Given the description of an element on the screen output the (x, y) to click on. 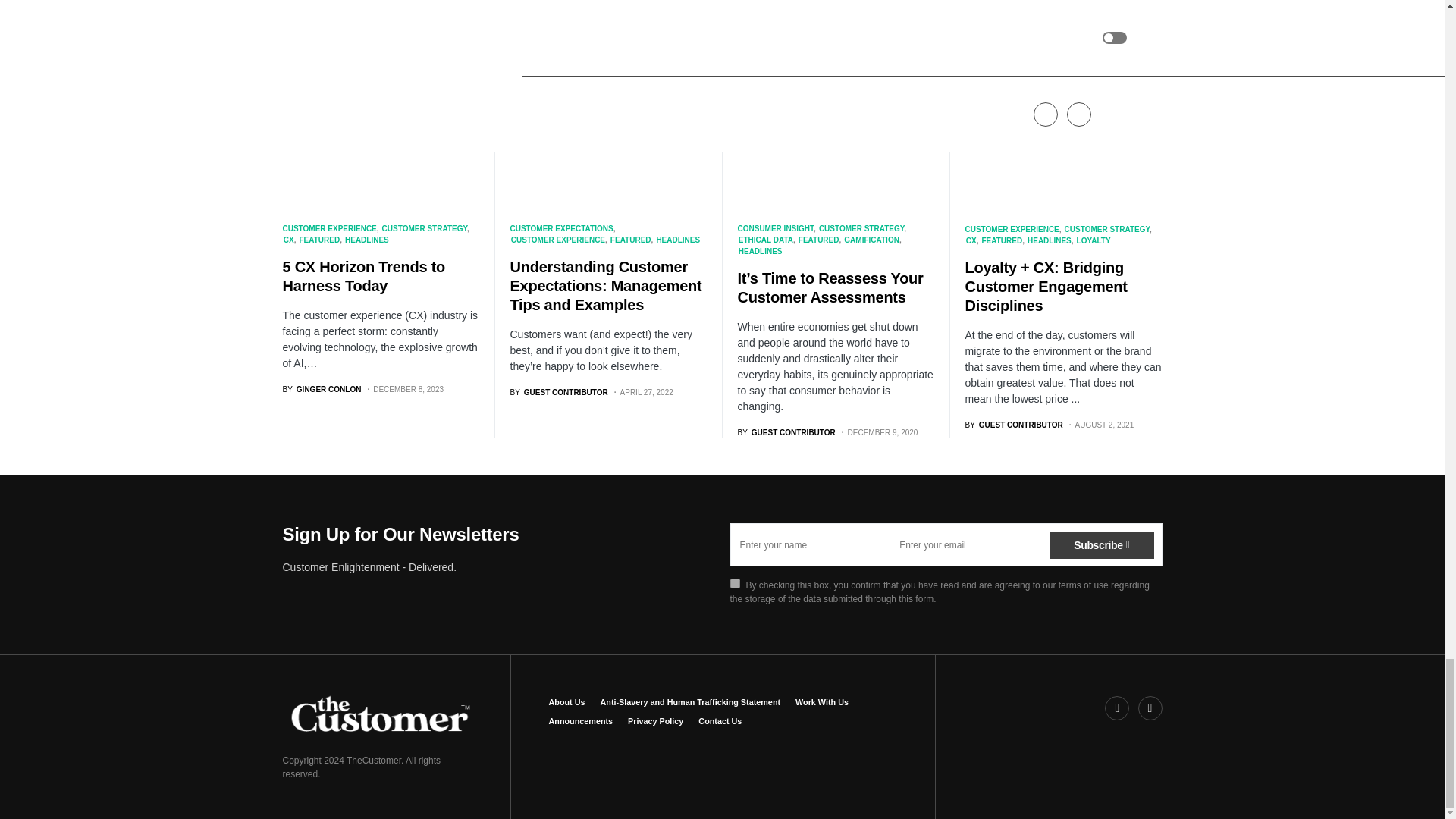
View all posts by Guest Contributor (1012, 424)
on (734, 583)
View all posts by Ginger Conlon (321, 389)
View all posts by Guest Contributor (558, 392)
View all posts by Guest Contributor (785, 432)
